Given the description of an element on the screen output the (x, y) to click on. 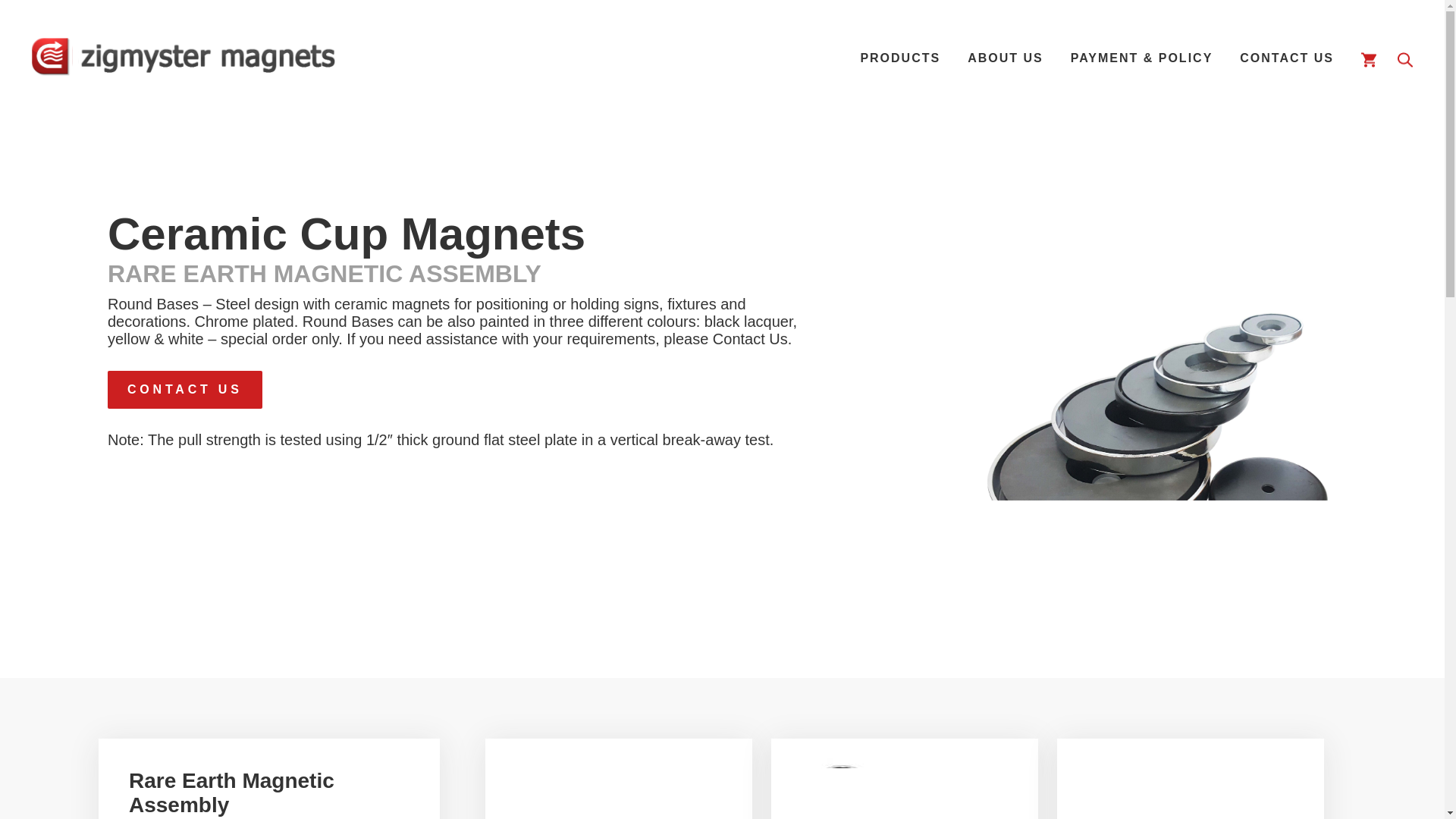
ABOUT US (1005, 57)
Zigmyster Magnets (183, 57)
CONTACT US (185, 389)
View Cart (1365, 58)
CONTACT US (1286, 57)
Contact Us (185, 389)
CONTACT US (184, 389)
PRODUCTS (900, 57)
